Given the description of an element on the screen output the (x, y) to click on. 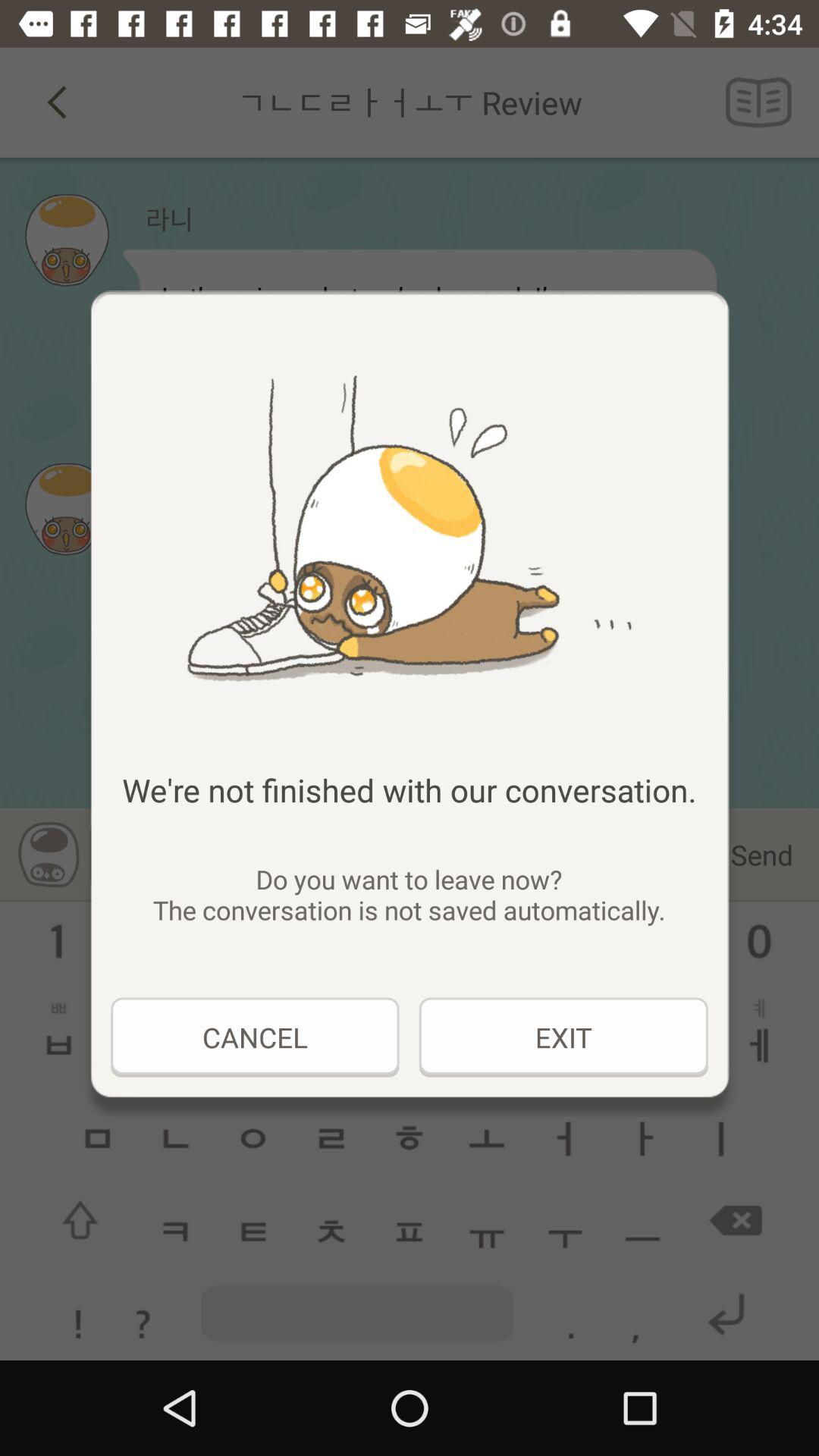
turn on icon below do you want item (254, 1037)
